Given the description of an element on the screen output the (x, y) to click on. 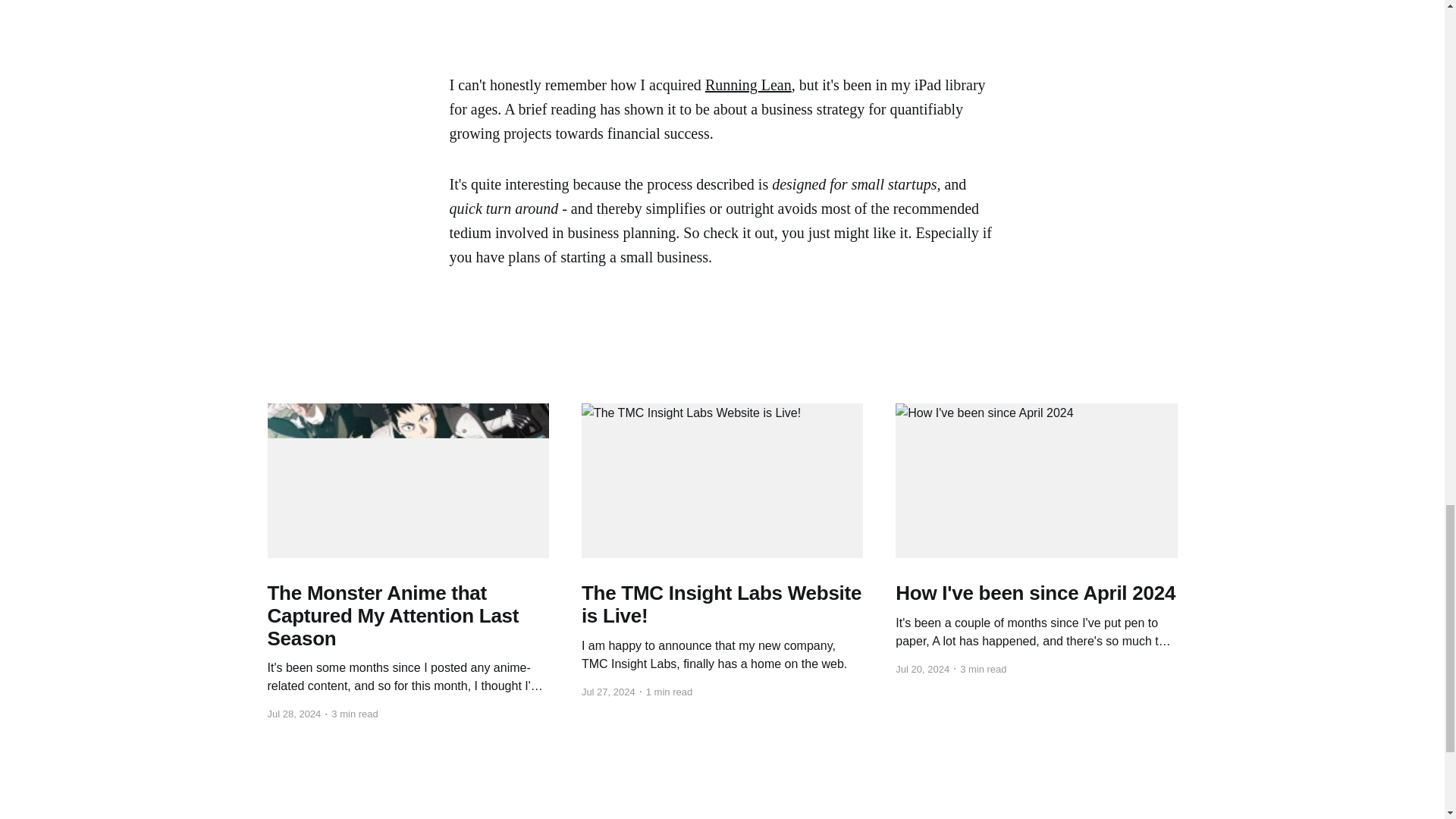
Running Lean (748, 84)
